Given the description of an element on the screen output the (x, y) to click on. 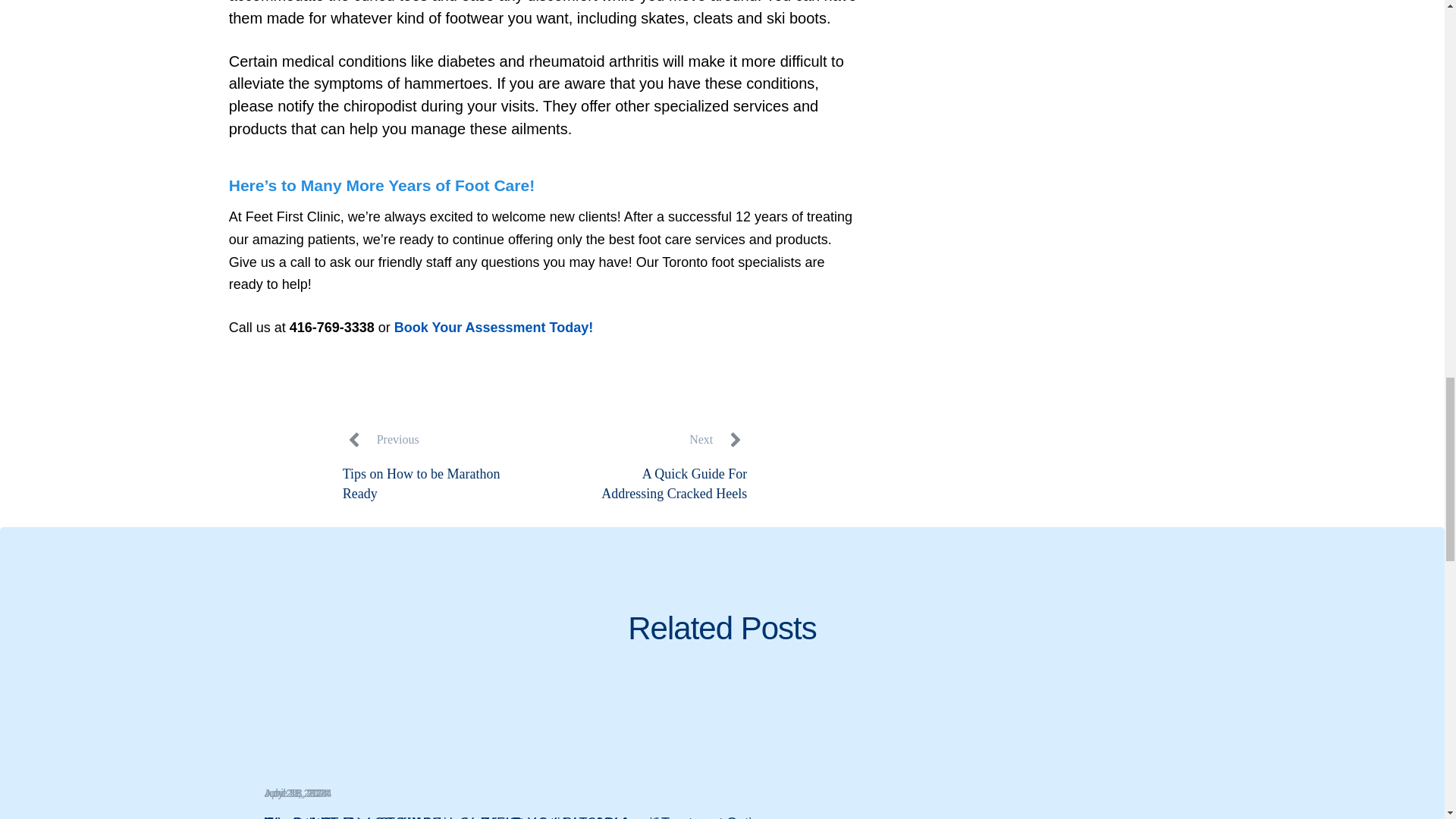
Tips on How to be Marathon Ready (425, 483)
A Quick Guide For Addressing Cracked Heels (662, 483)
